Given the description of an element on the screen output the (x, y) to click on. 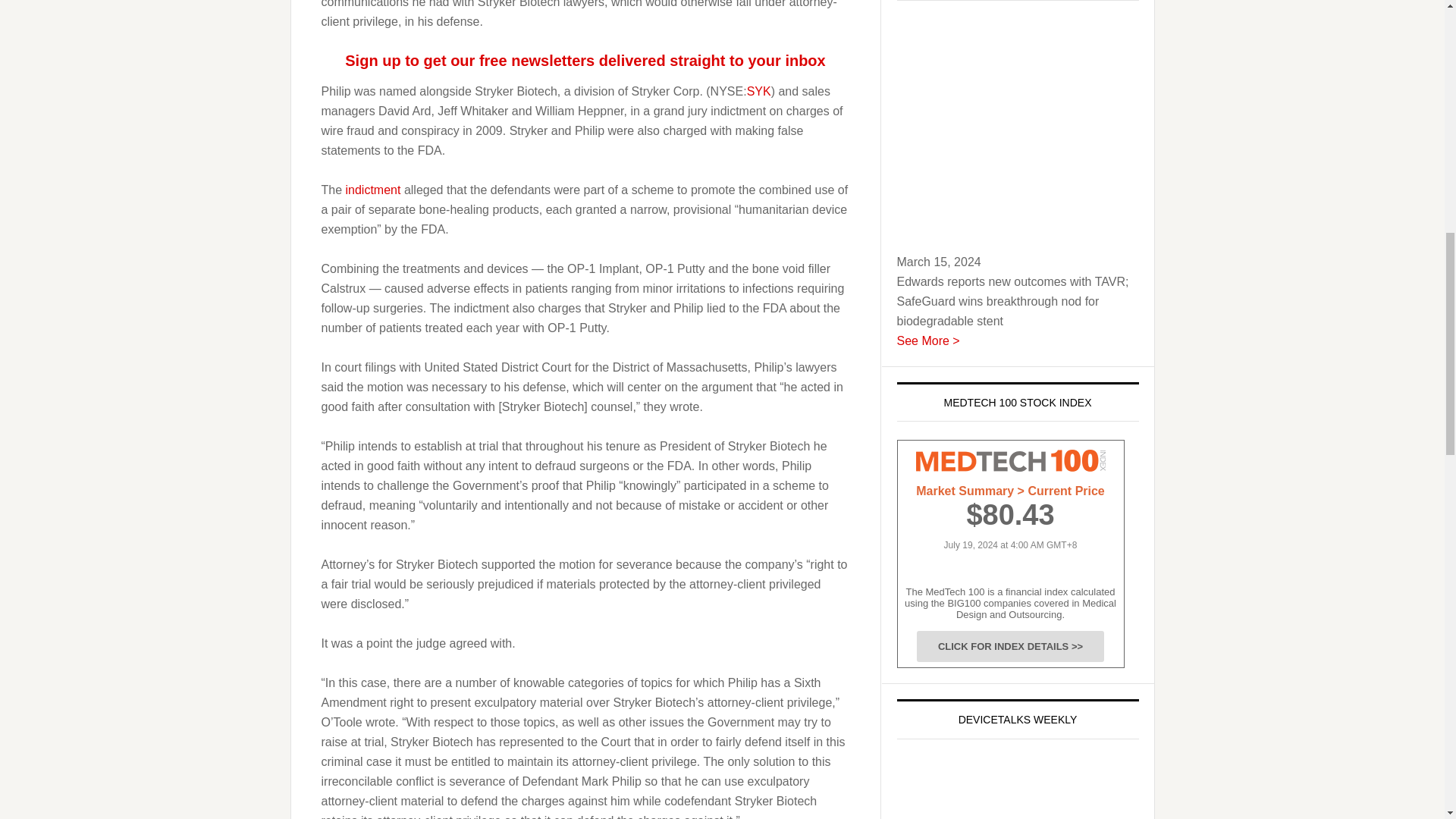
MassDevice.com news (373, 189)
MassDevice.com newsletter signup (585, 60)
stock ticker (758, 91)
